Given the description of an element on the screen output the (x, y) to click on. 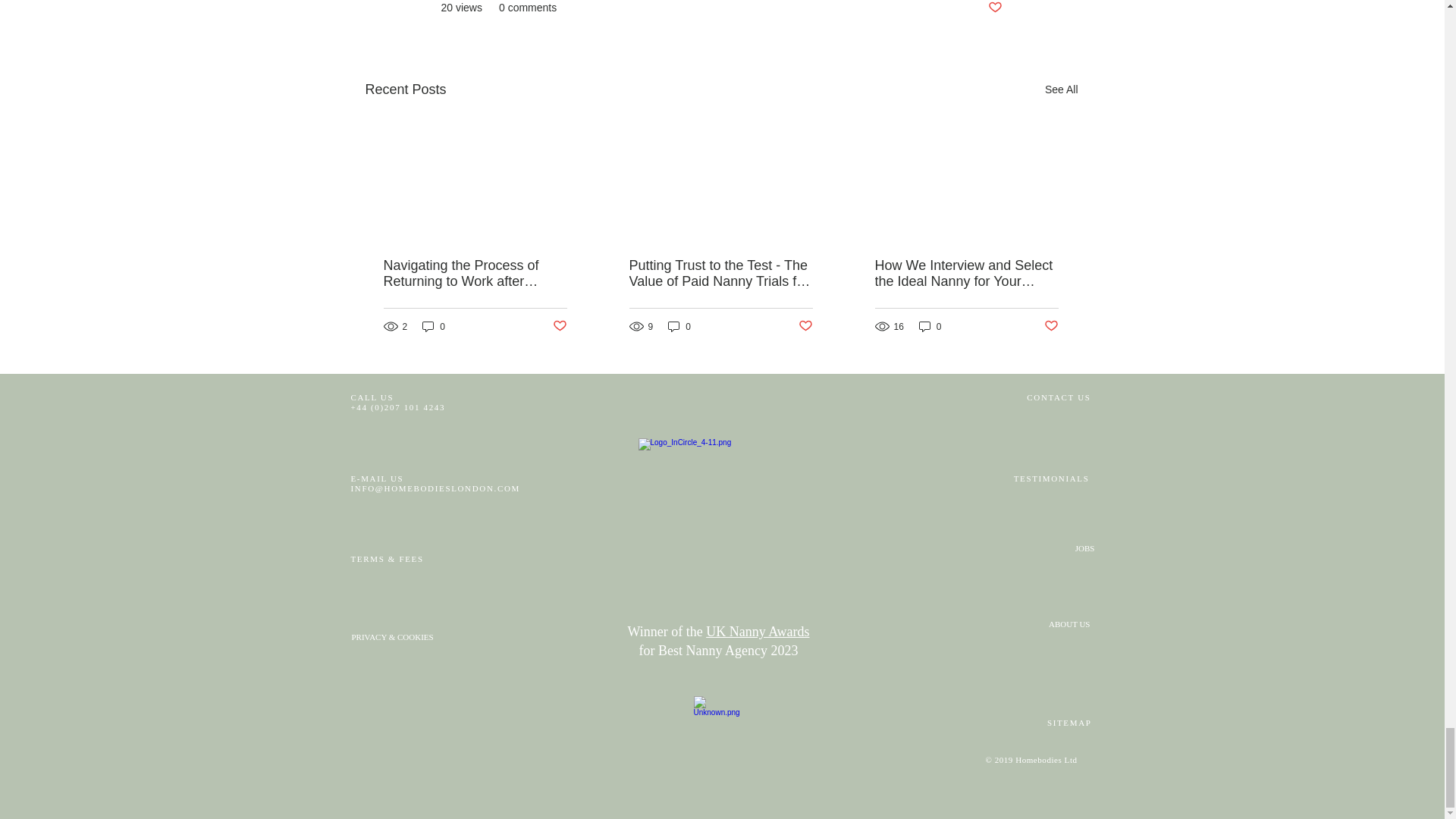
0 (433, 326)
See All (1061, 89)
Post not marked as liked (558, 326)
Post not marked as liked (994, 7)
